Given the description of an element on the screen output the (x, y) to click on. 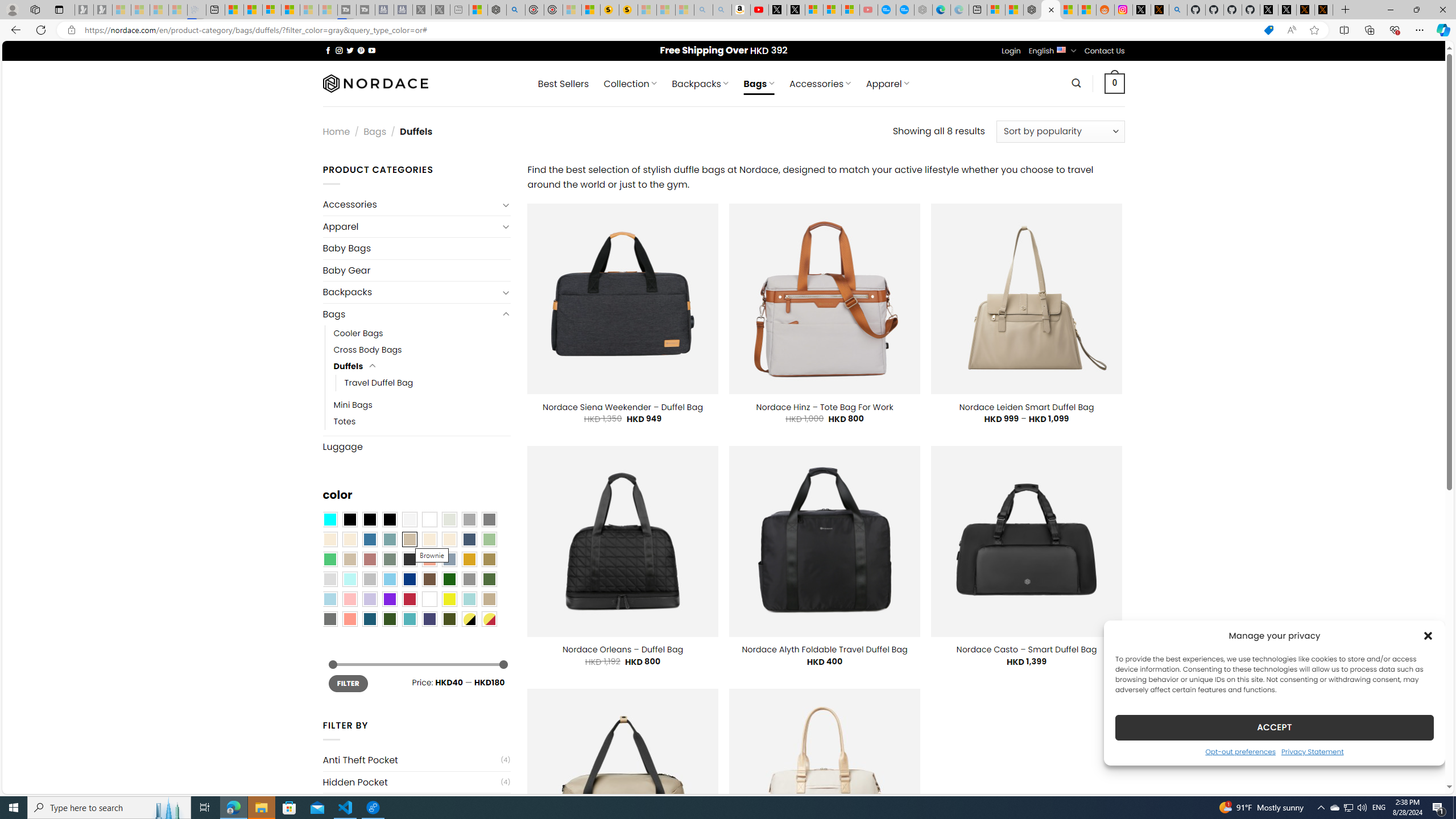
Amazon Echo Dot PNG - Search Images - Sleeping (721, 9)
Privacy Statement (1312, 750)
  0   (1115, 83)
Sky Blue (389, 579)
Login (1010, 50)
Cream (449, 539)
Dark Gray (468, 519)
  Best Sellers (563, 83)
Totes (344, 420)
